Given the description of an element on the screen output the (x, y) to click on. 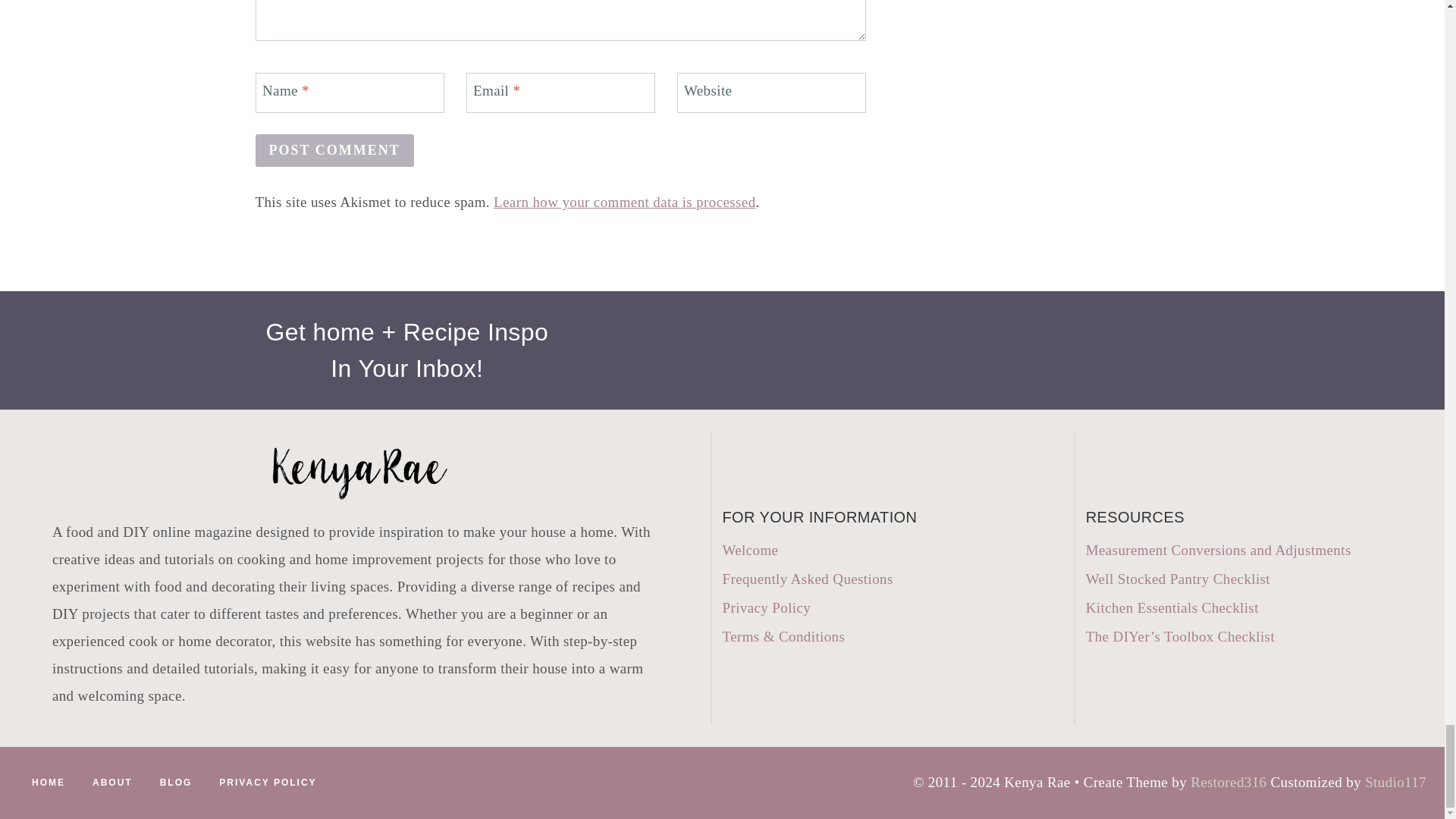
Post Comment (333, 150)
